Given the description of an element on the screen output the (x, y) to click on. 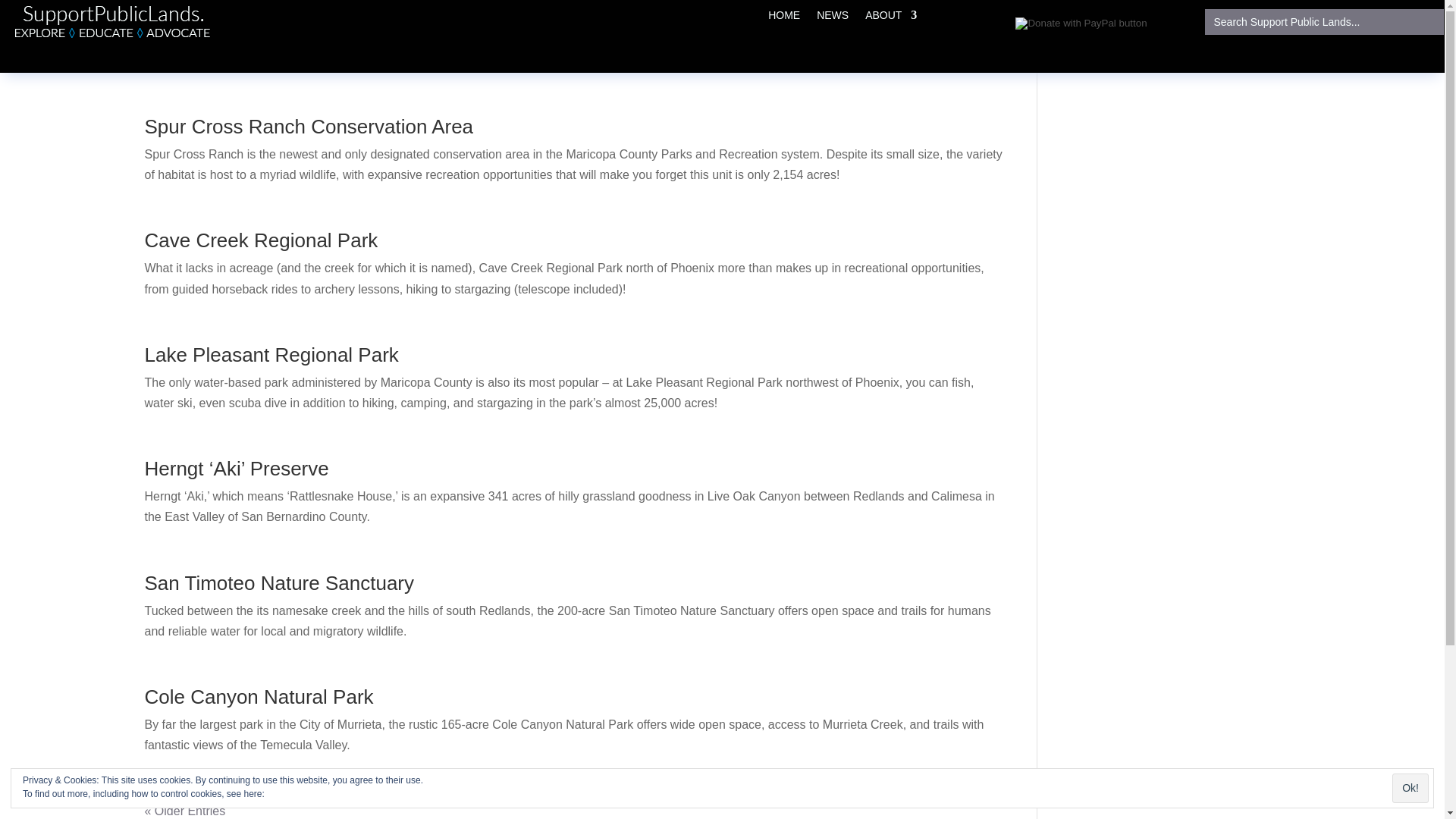
Cave Creek Regional Park (260, 240)
Cole Canyon Natural Park (258, 696)
Ok! (1409, 788)
Privacy Policy (294, 793)
HOME (783, 17)
San Timoteo Nature Sanctuary (278, 582)
Ok! (1409, 788)
NEWS (832, 17)
ABOUT (890, 17)
Spur Cross Ranch Conservation Area (308, 126)
